Given the description of an element on the screen output the (x, y) to click on. 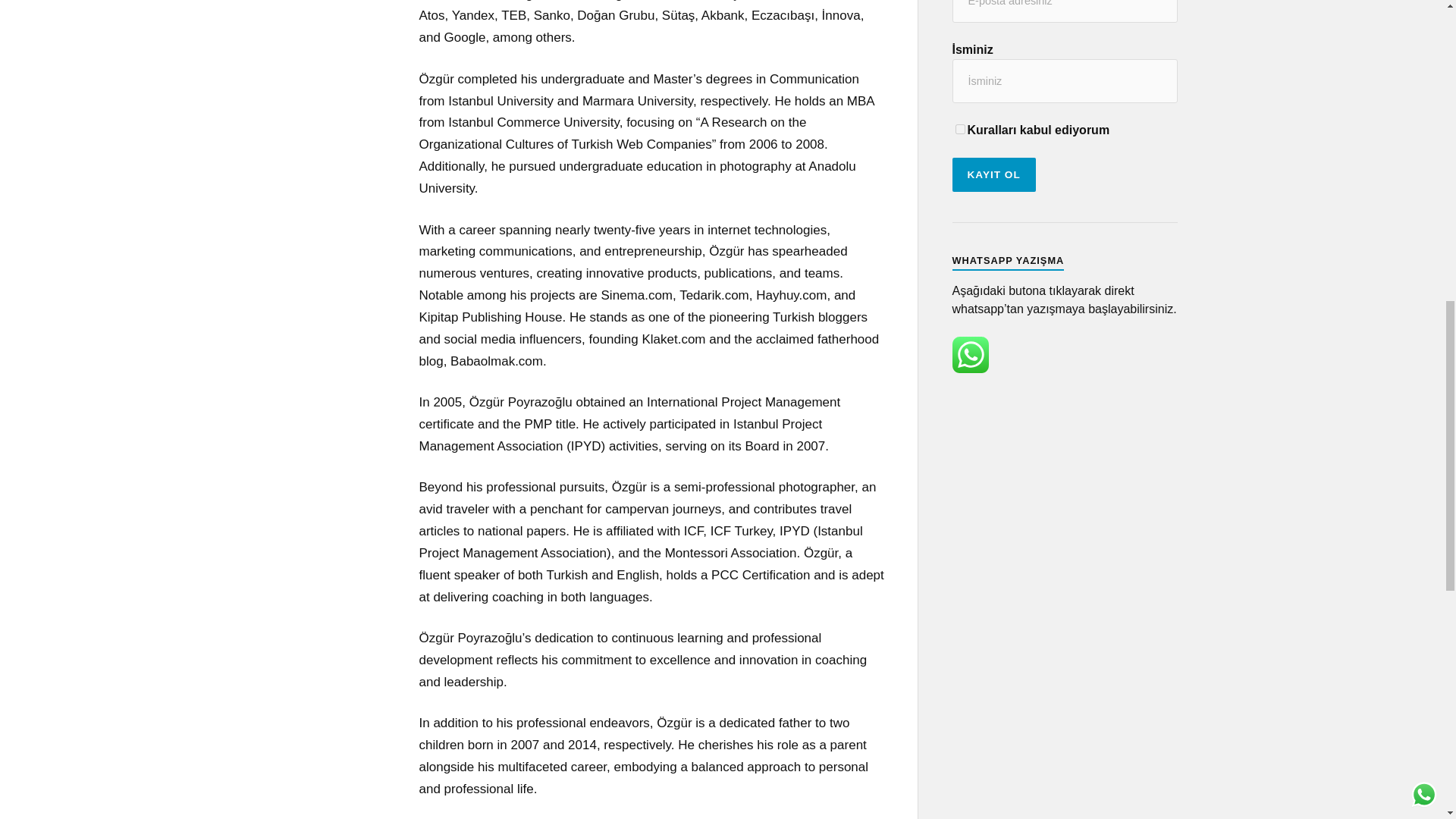
1 (960, 129)
